Given the description of an element on the screen output the (x, y) to click on. 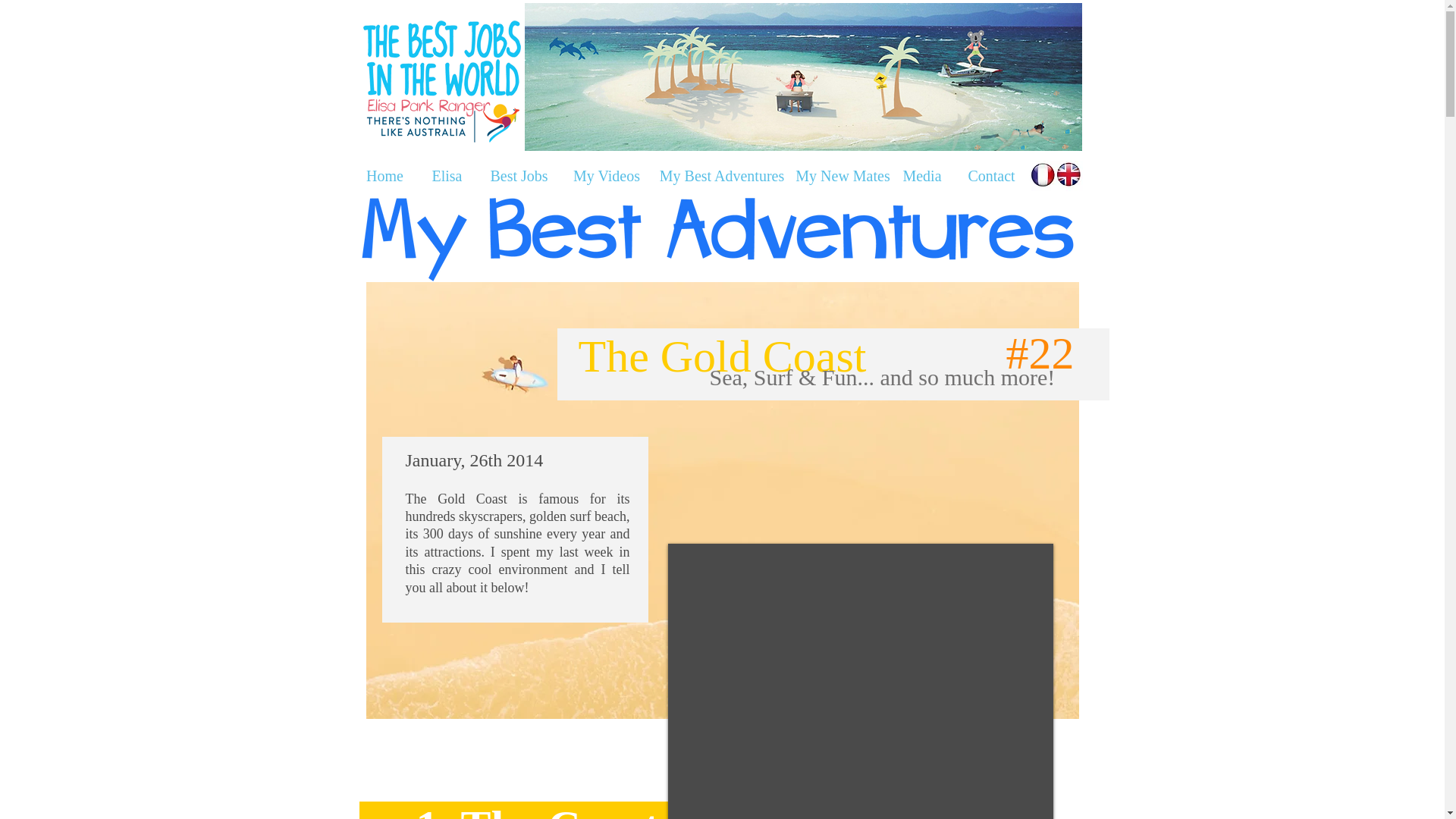
Media (922, 175)
Elisa (447, 175)
My New Mates (842, 175)
drapeau-francais-anglais.jpg (1056, 175)
My Best Adventures title.png (718, 235)
My Best Adventures (721, 175)
Best Jobs (518, 175)
Contact (990, 175)
My Videos (606, 175)
Home (384, 175)
